Given the description of an element on the screen output the (x, y) to click on. 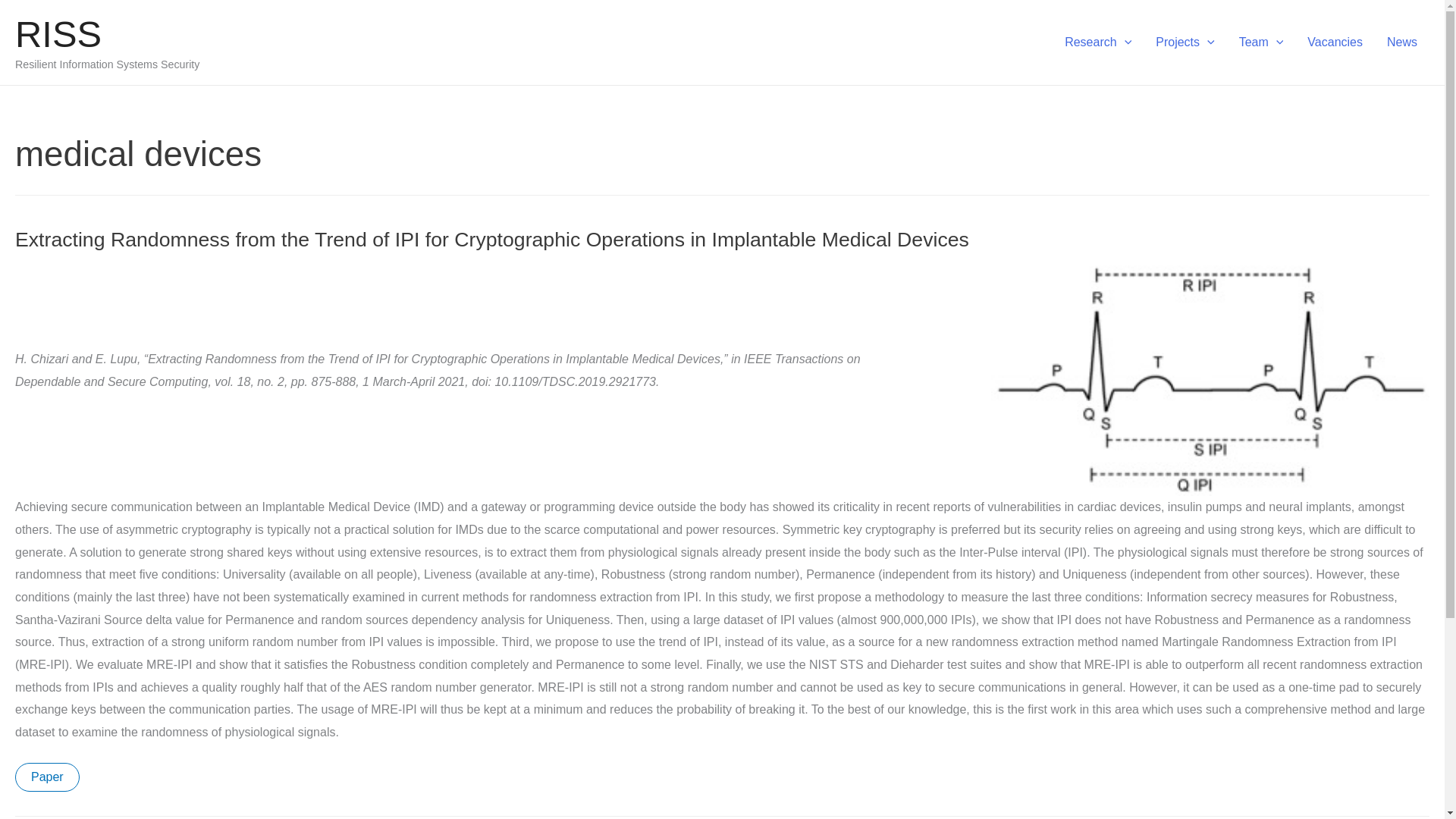
Team (1261, 41)
News (1401, 41)
RISS (57, 33)
Vacancies (1334, 41)
Projects (1183, 41)
Paper (47, 776)
Research (1097, 41)
